Given the description of an element on the screen output the (x, y) to click on. 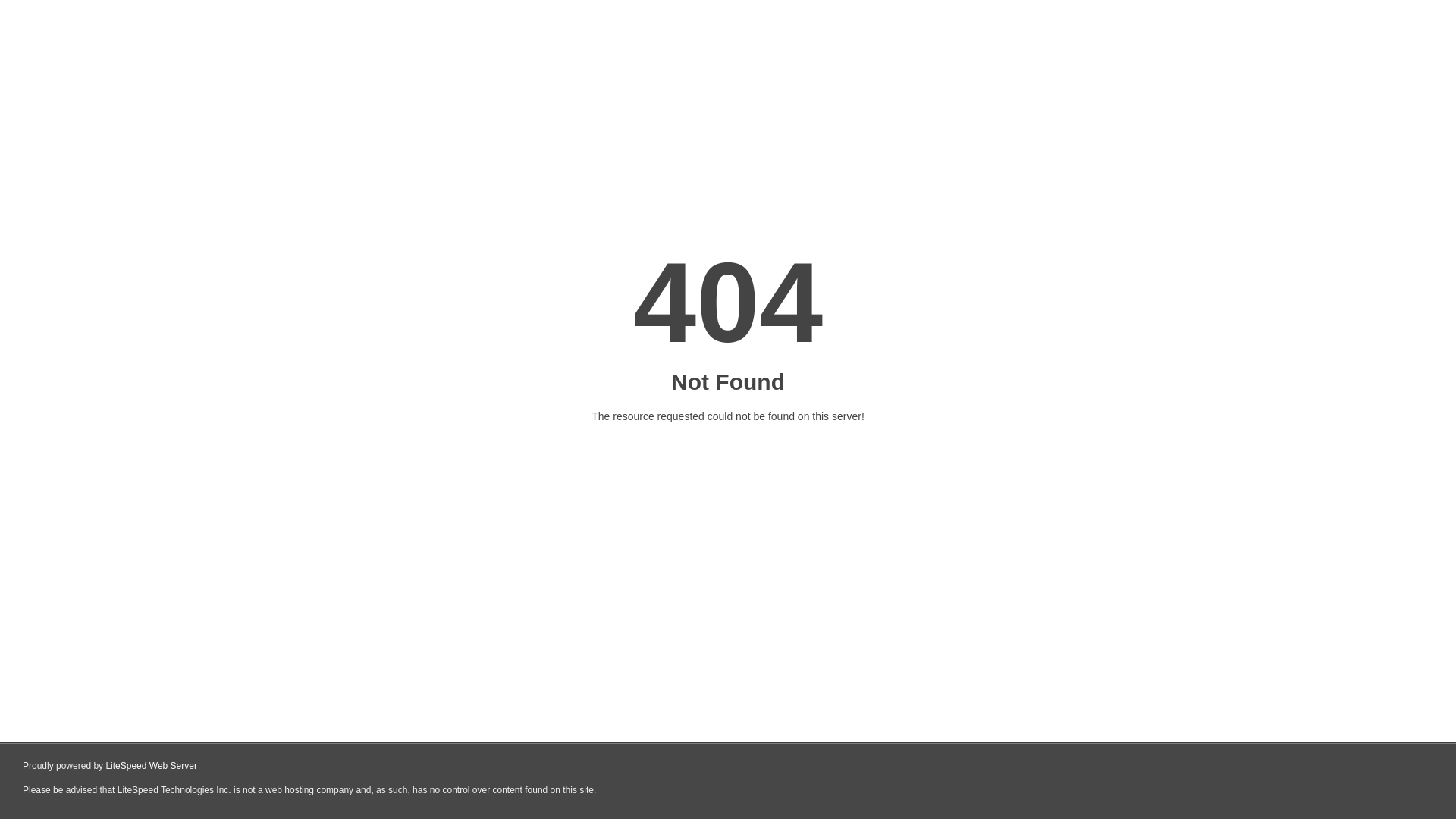
LiteSpeed Web Server Element type: text (151, 765)
